Given the description of an element on the screen output the (x, y) to click on. 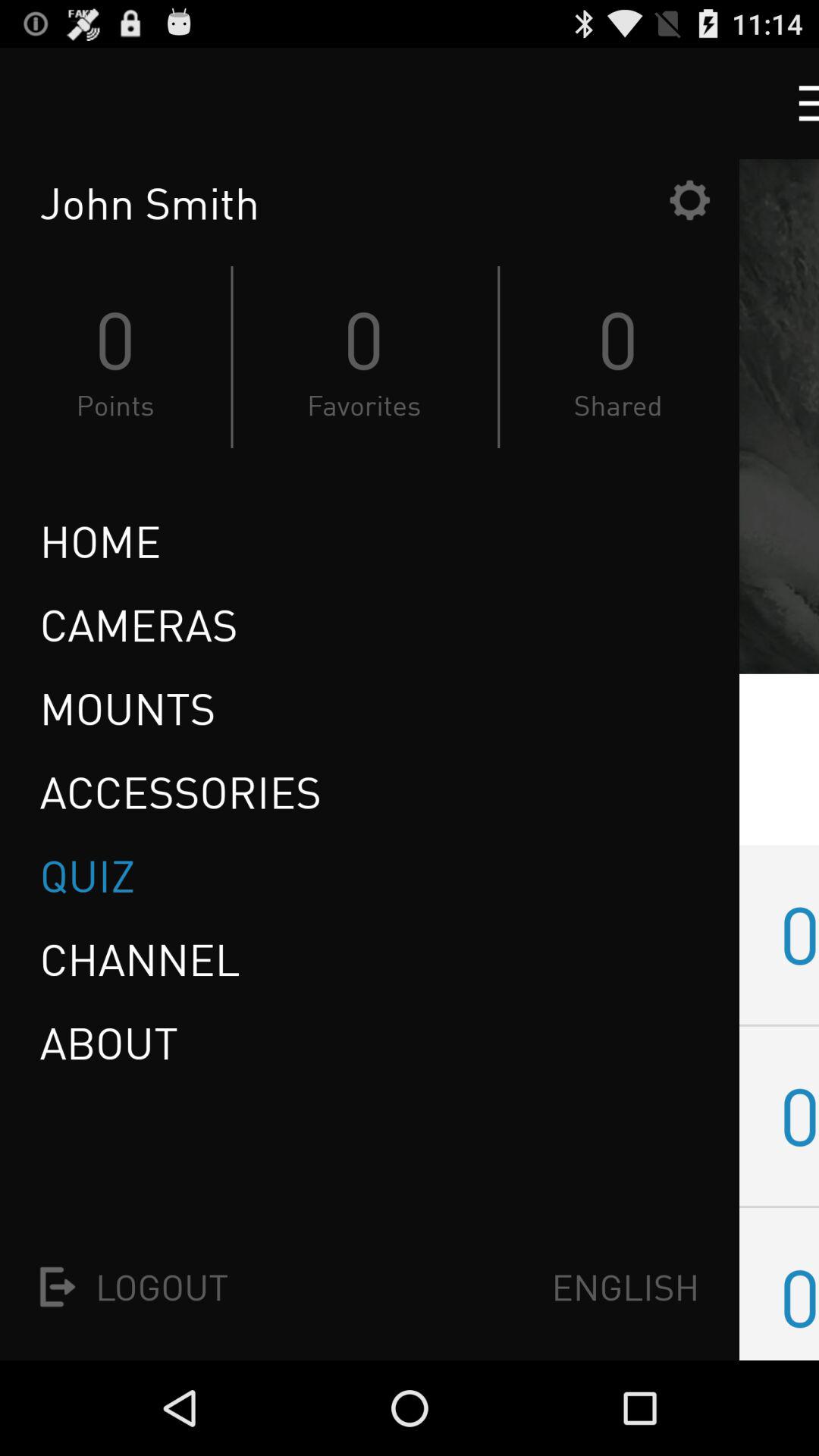
options button (689, 199)
